Given the description of an element on the screen output the (x, y) to click on. 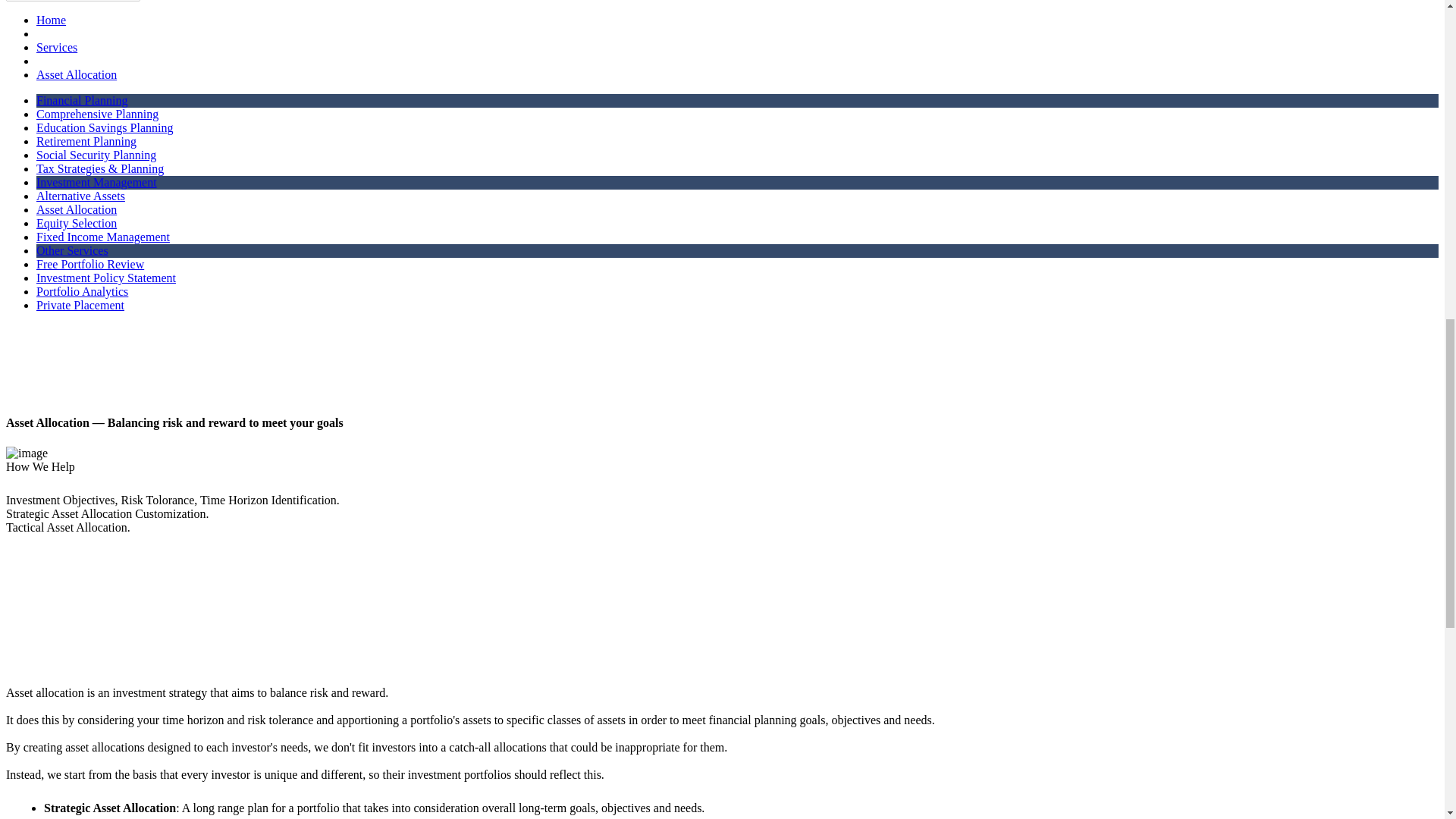
Equity Selection (76, 223)
Investment Management (96, 182)
Fixed Income Management (103, 236)
Asset Allocation (76, 209)
Financial Planning (82, 100)
Comprehensive Planning (97, 113)
Alternative Assets (80, 195)
Free Portfolio Review (90, 264)
Portfolio Analytics (82, 291)
Other Services (71, 250)
Investment Policy Statement (106, 277)
Private Placement (79, 305)
Social Security Planning (95, 154)
Retirement Planning (86, 141)
Education Savings Planning (104, 127)
